Given the description of an element on the screen output the (x, y) to click on. 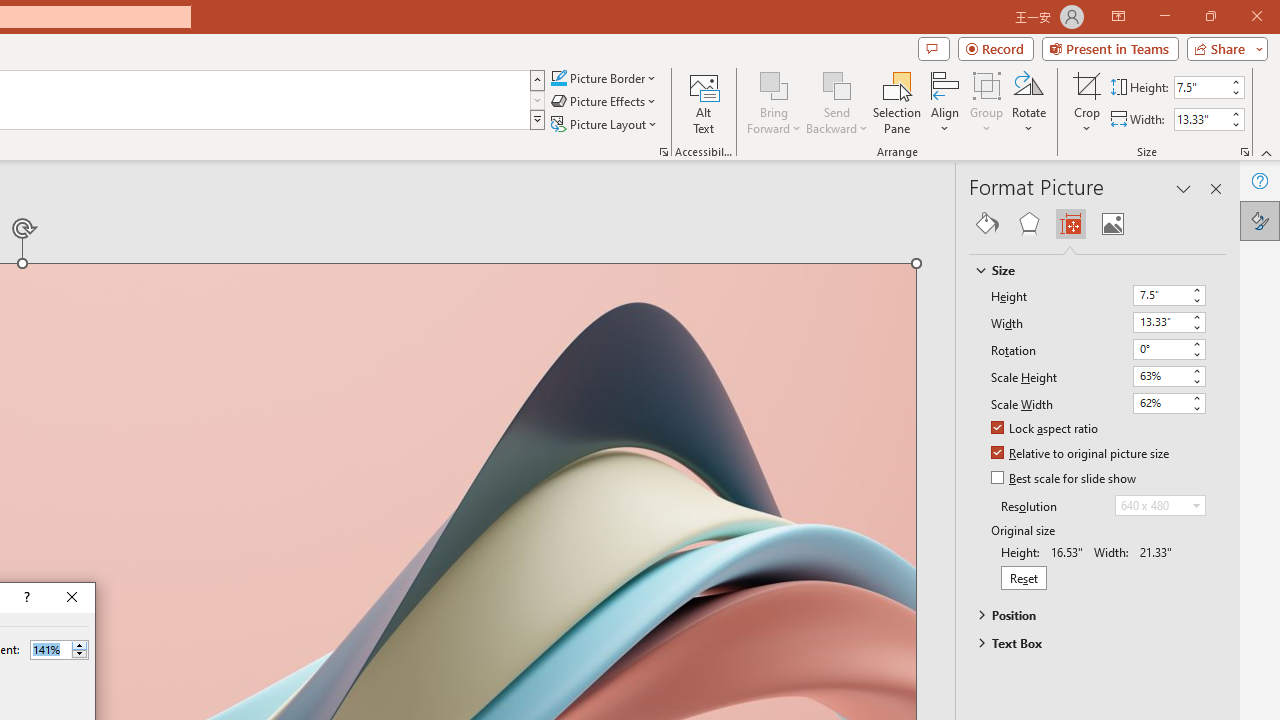
Lock aspect ratio (1046, 429)
Height (1168, 295)
Position (1088, 615)
Bring Forward (773, 102)
